Given the description of an element on the screen output the (x, y) to click on. 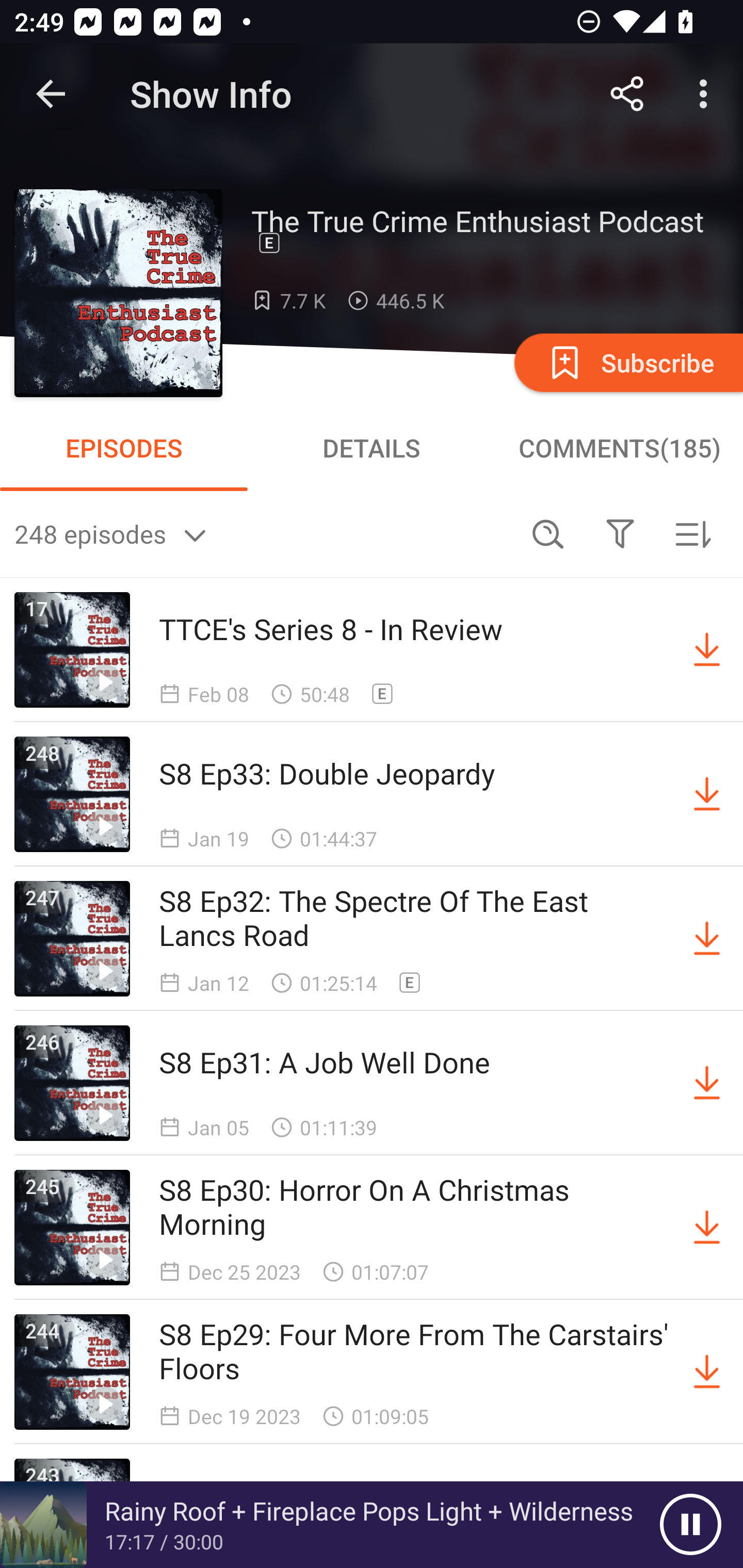
Navigate up (50, 93)
Share (626, 93)
More options (706, 93)
Subscribe (627, 361)
EPISODES (123, 447)
DETAILS (371, 447)
COMMENTS(185) (619, 447)
248 episodes  (262, 533)
 Search (547, 533)
 (619, 533)
 Sorted by newest first (692, 533)
Download (706, 649)
Download (706, 793)
Download (706, 939)
Download (706, 1083)
Download (706, 1227)
Download (706, 1371)
Pause (690, 1524)
